Given the description of an element on the screen output the (x, y) to click on. 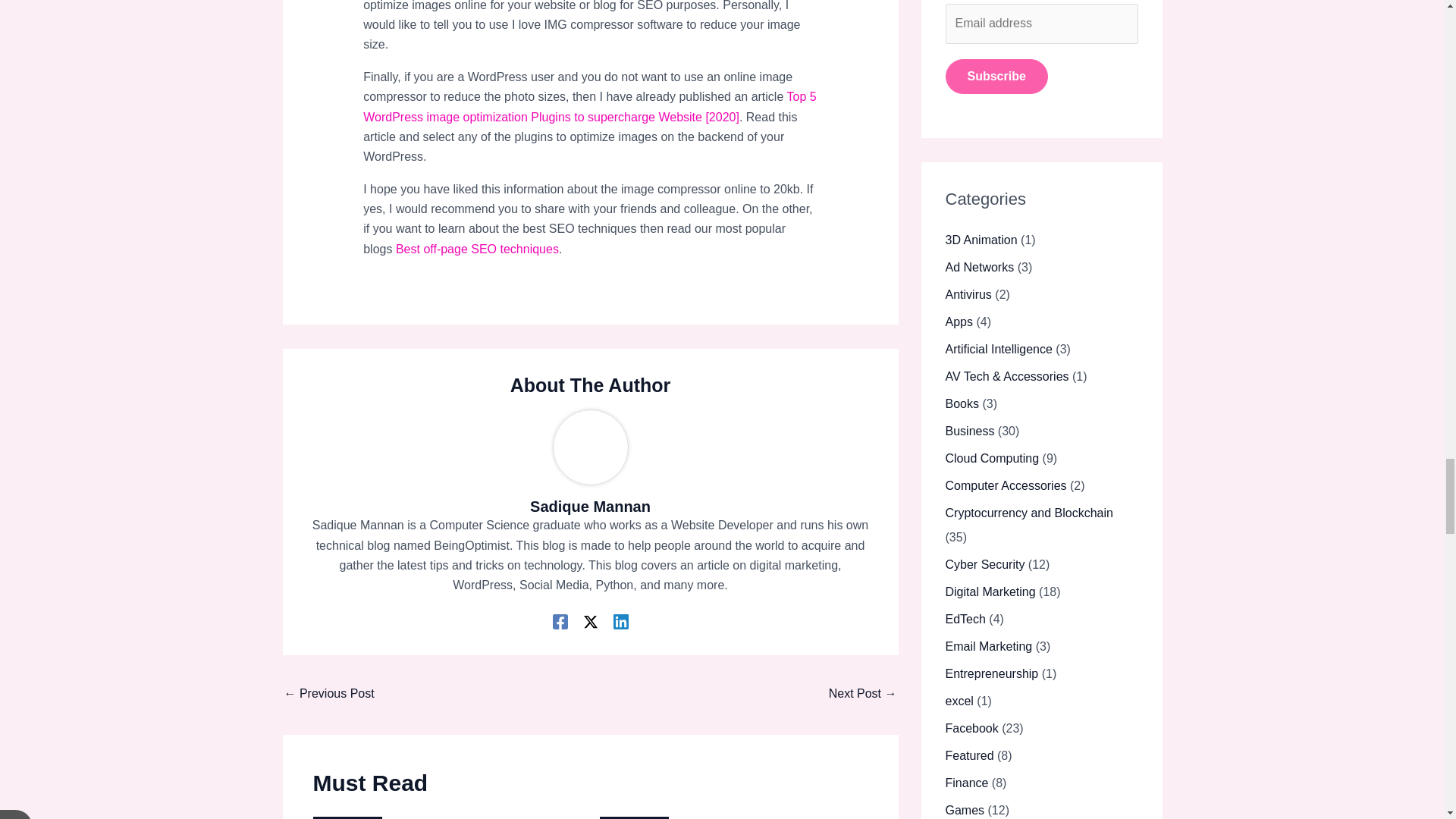
How to Promote Your Print on Demand Business (862, 694)
How To Sell Domain On Godaddy (328, 694)
